Given the description of an element on the screen output the (x, y) to click on. 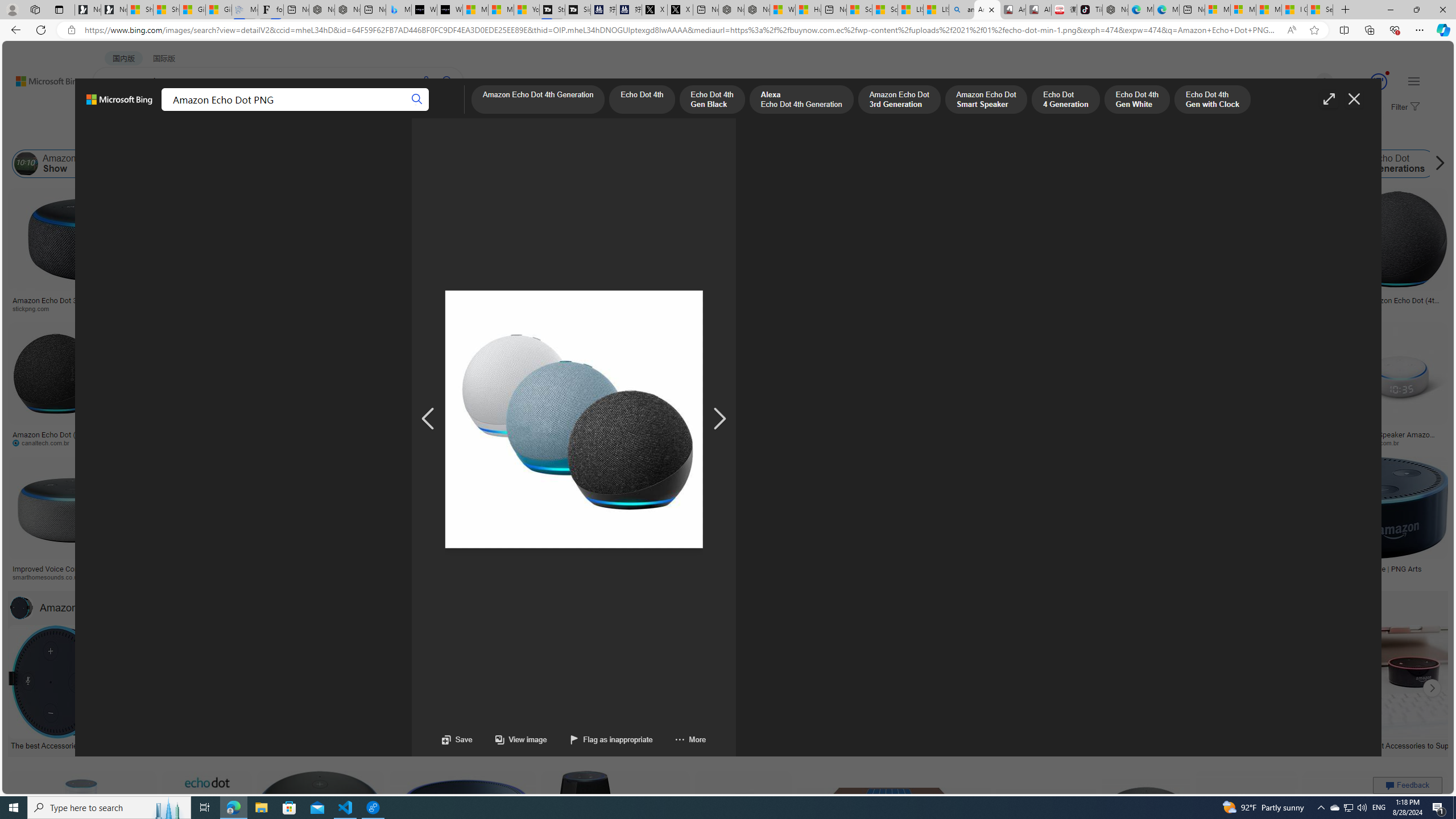
Amazon Echo Dot 3rd (371, 163)
canaltech.com.br (56, 442)
tpsearchtool.com (1283, 308)
avenidatecnologica.com (1273, 442)
tpsearchtool.com (1257, 308)
energyearth.com (775, 576)
pricehistoryapp.com (287, 442)
With Clock (565, 261)
